Given the description of an element on the screen output the (x, y) to click on. 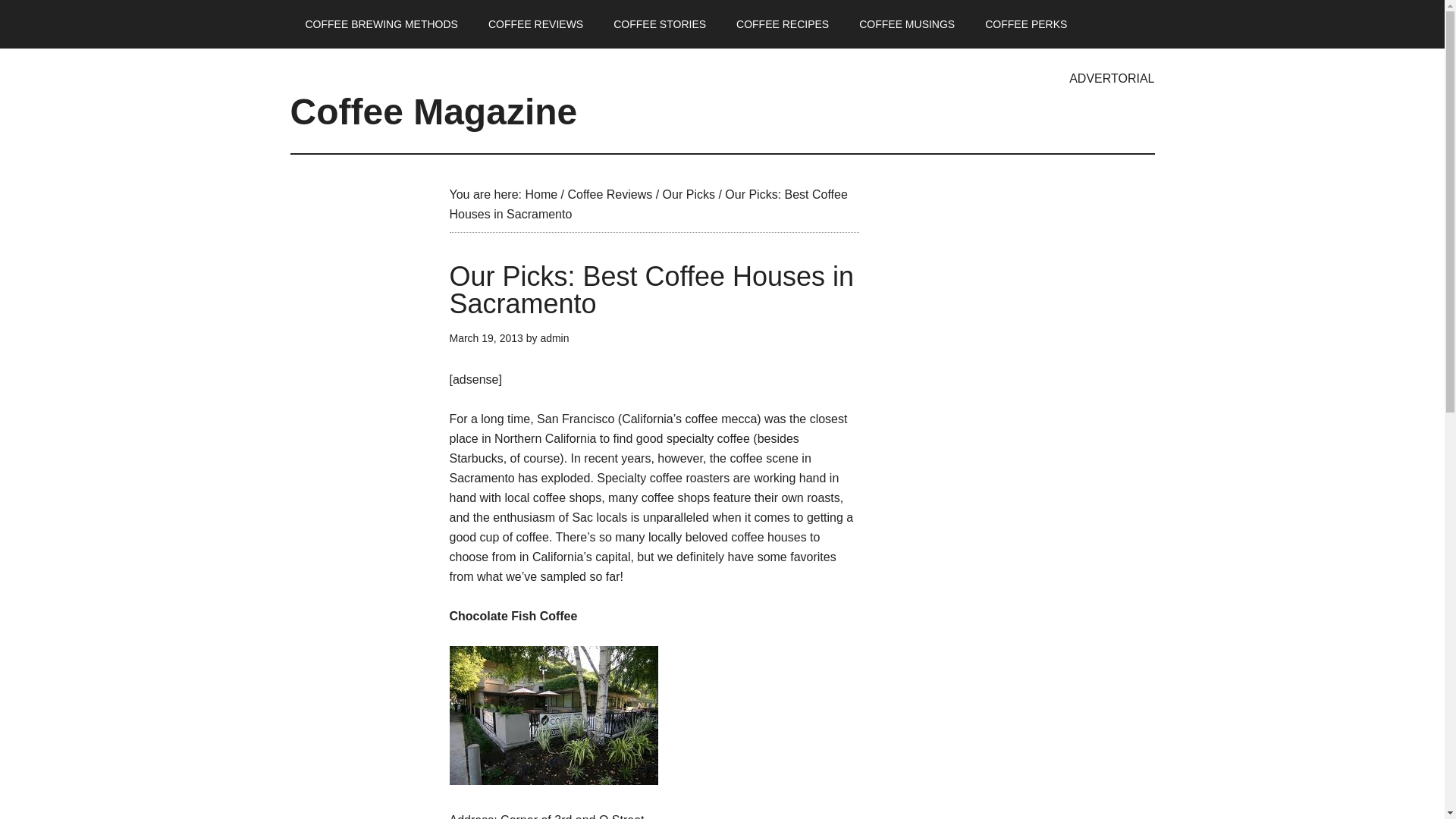
COFFEE RECIPES (782, 24)
COFFEE BREWING METHODS (380, 24)
COFFEE STORIES (659, 24)
Coffee Reviews (609, 194)
COFFEE REVIEWS (535, 24)
Coffee Magazine (432, 111)
Home (540, 194)
COFFEE PERKS (1025, 24)
COFFEE MUSINGS (906, 24)
admin (554, 337)
